Given the description of an element on the screen output the (x, y) to click on. 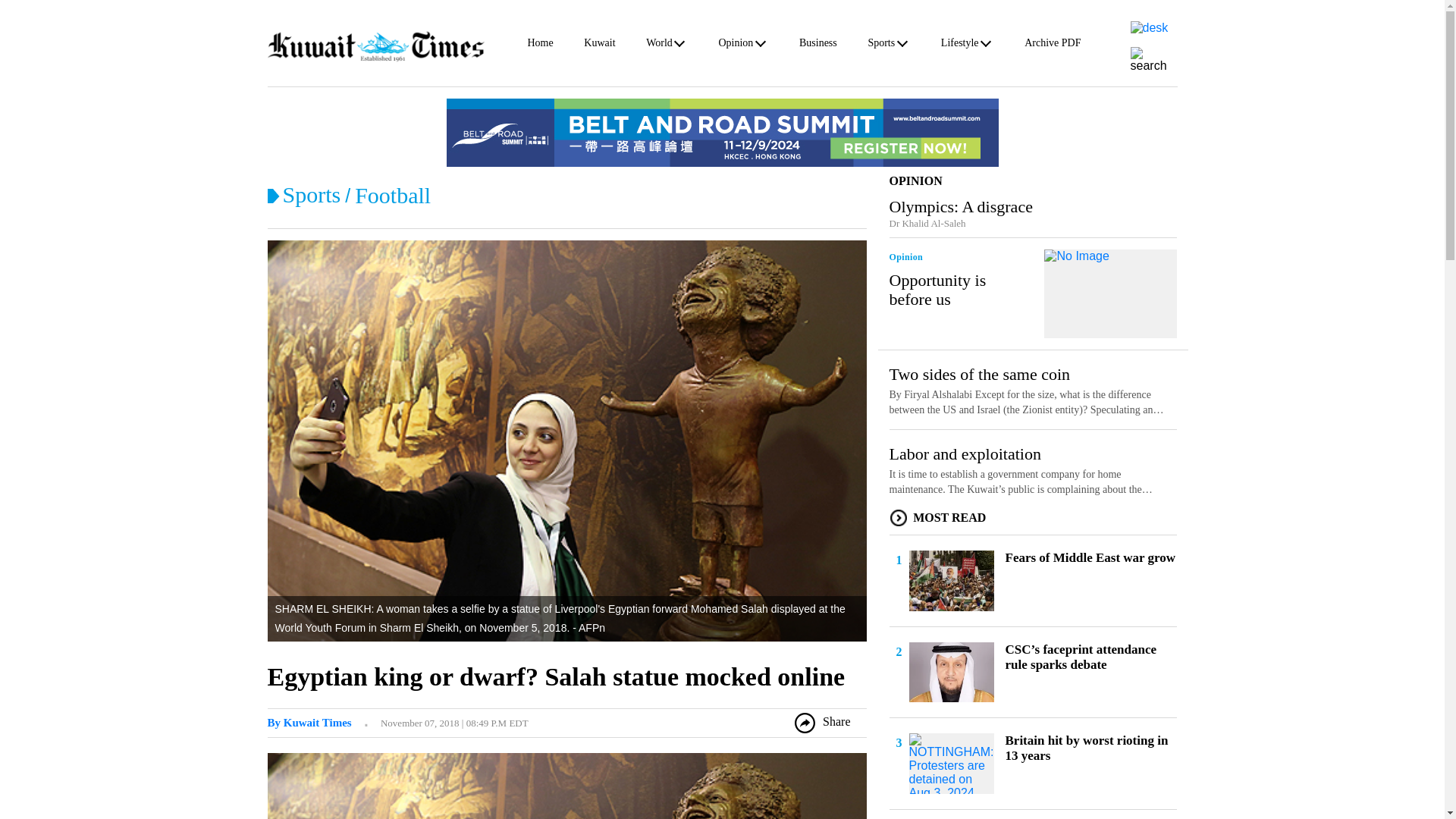
Sports (881, 46)
Kuwait (598, 46)
talal (308, 722)
Business (818, 46)
World (659, 46)
Business (818, 46)
Lifestyle (959, 46)
Egyptian king or dwarf? Salah statue mocked online (555, 676)
Football (392, 195)
Home (540, 46)
